Given the description of an element on the screen output the (x, y) to click on. 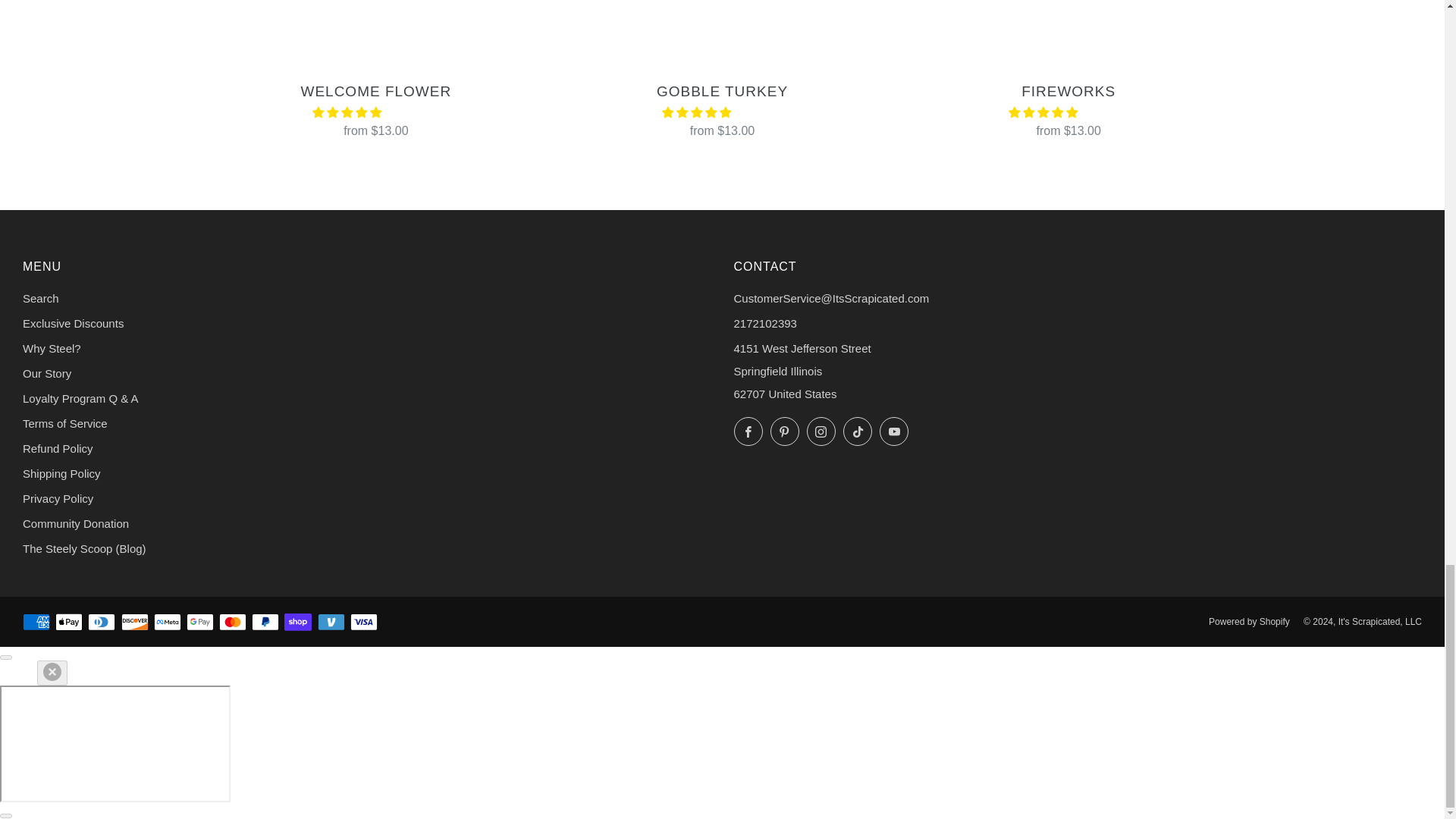
Gobble Turkey (721, 107)
Fireworks (1068, 107)
Welcome Flower (376, 107)
